Given the description of an element on the screen output the (x, y) to click on. 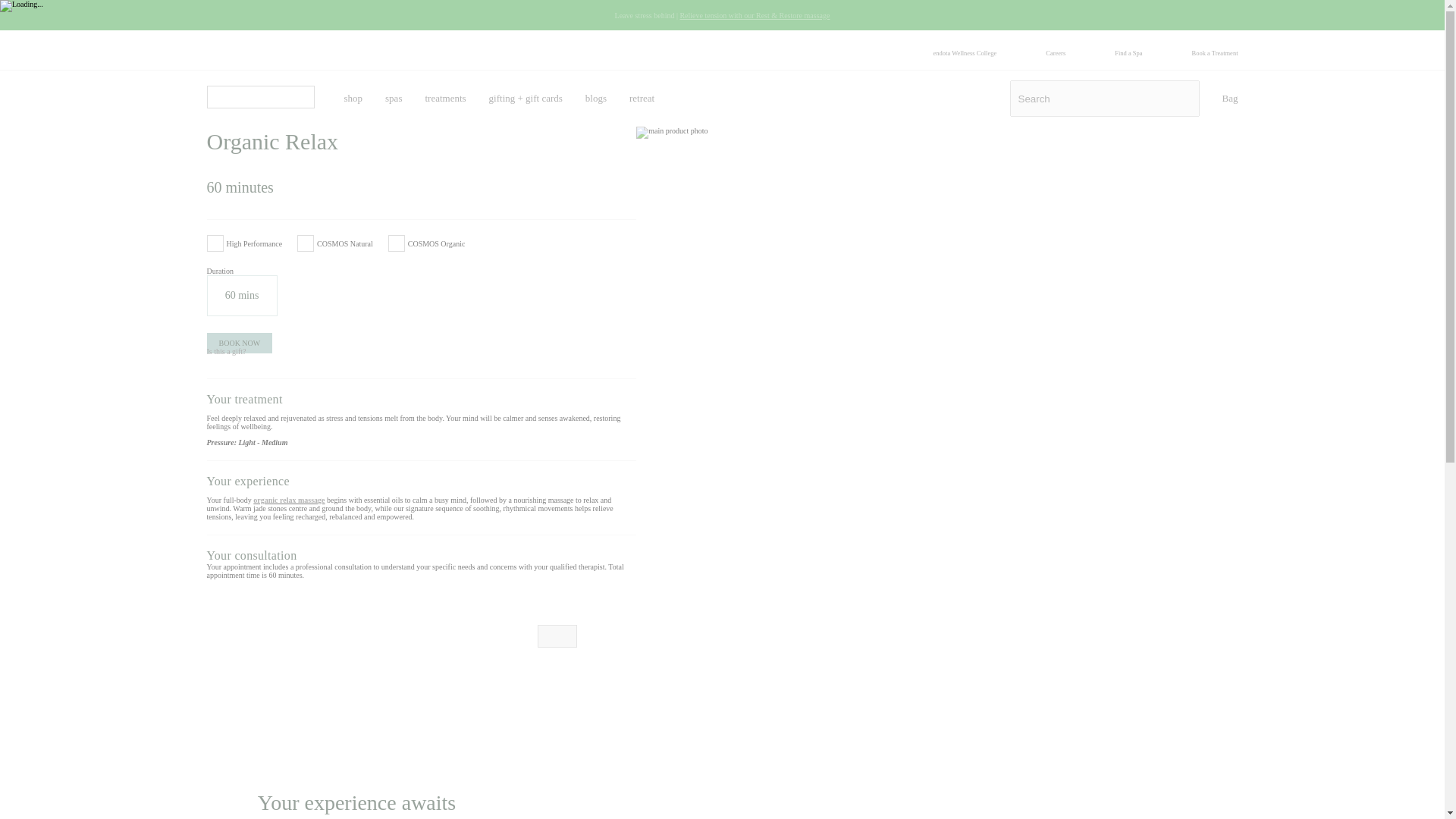
Book a Treatment (1215, 52)
endota Wellness College (965, 52)
Find a Spa (1128, 52)
Careers (1055, 52)
